Given the description of an element on the screen output the (x, y) to click on. 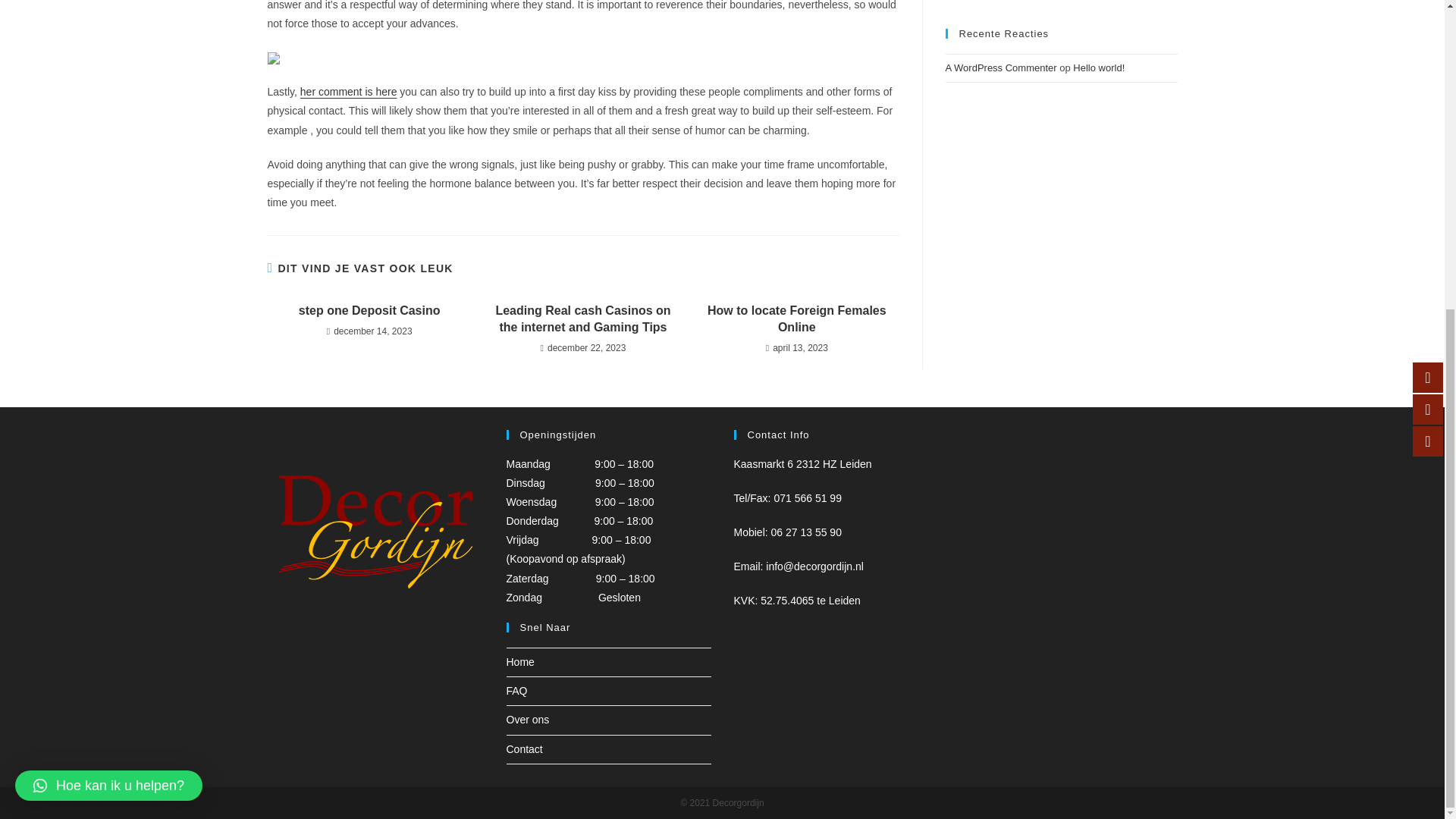
Hello world! (1098, 67)
Contact (524, 748)
Home (520, 662)
How to locate Foreign Females Online (796, 319)
Leading Real cash Casinos on the internet and Gaming Tips (582, 319)
her comment is here (348, 91)
Over ons (528, 719)
step one Deposit Casino (368, 310)
FAQ (516, 690)
A WordPress Commenter (1000, 67)
